Given the description of an element on the screen output the (x, y) to click on. 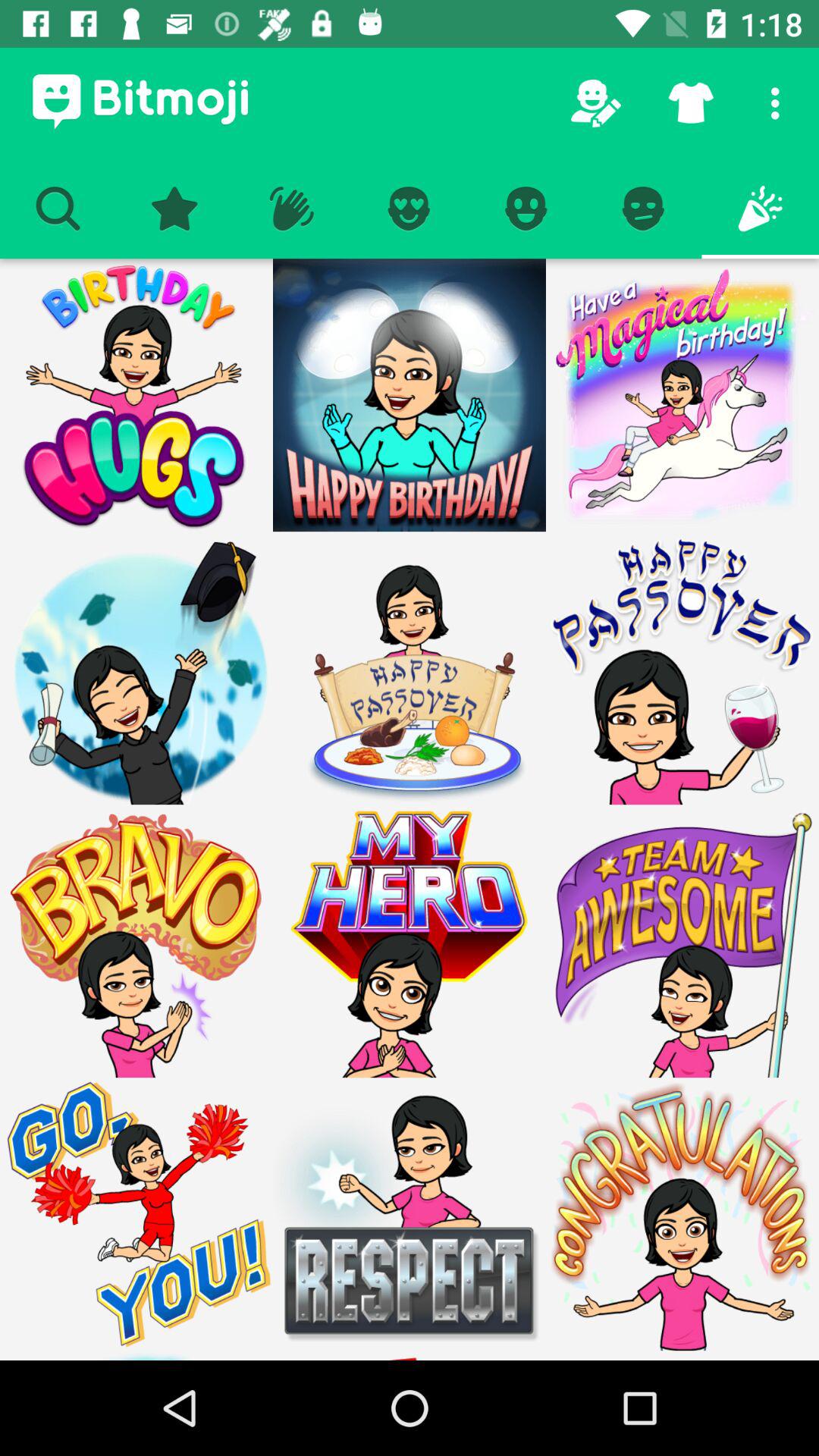
click to congratulation option (682, 1213)
